Given the description of an element on the screen output the (x, y) to click on. 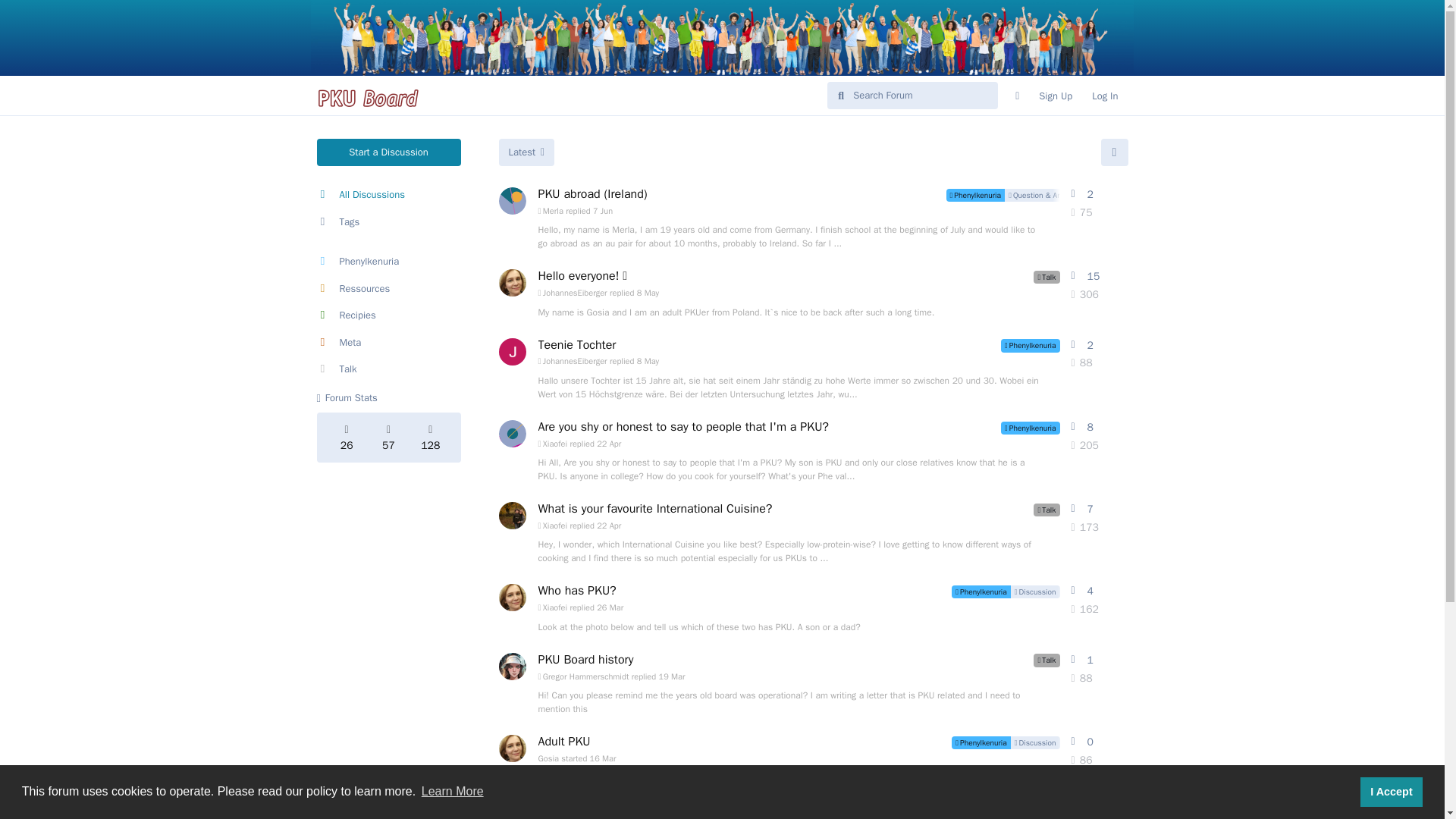
Meta (389, 342)
Ressources (389, 288)
Learn More (452, 791)
Tuesday, March 19, 2024 3:23 AM (672, 675)
Phenylkenuria (389, 261)
Start a Discussion (389, 152)
Recipies (389, 315)
Friday, June 7, 2024 11:11 PM (602, 210)
Monday, April 22, 2024 11:47 AM (608, 443)
Latest (526, 152)
Wednesday, May 8, 2024 2:13 AM (648, 360)
Monday, April 22, 2024 11:36 AM (608, 525)
Sign Up (1055, 94)
Wednesday, May 8, 2024 2:29 AM (648, 292)
I Accept (1390, 791)
